Given the description of an element on the screen output the (x, y) to click on. 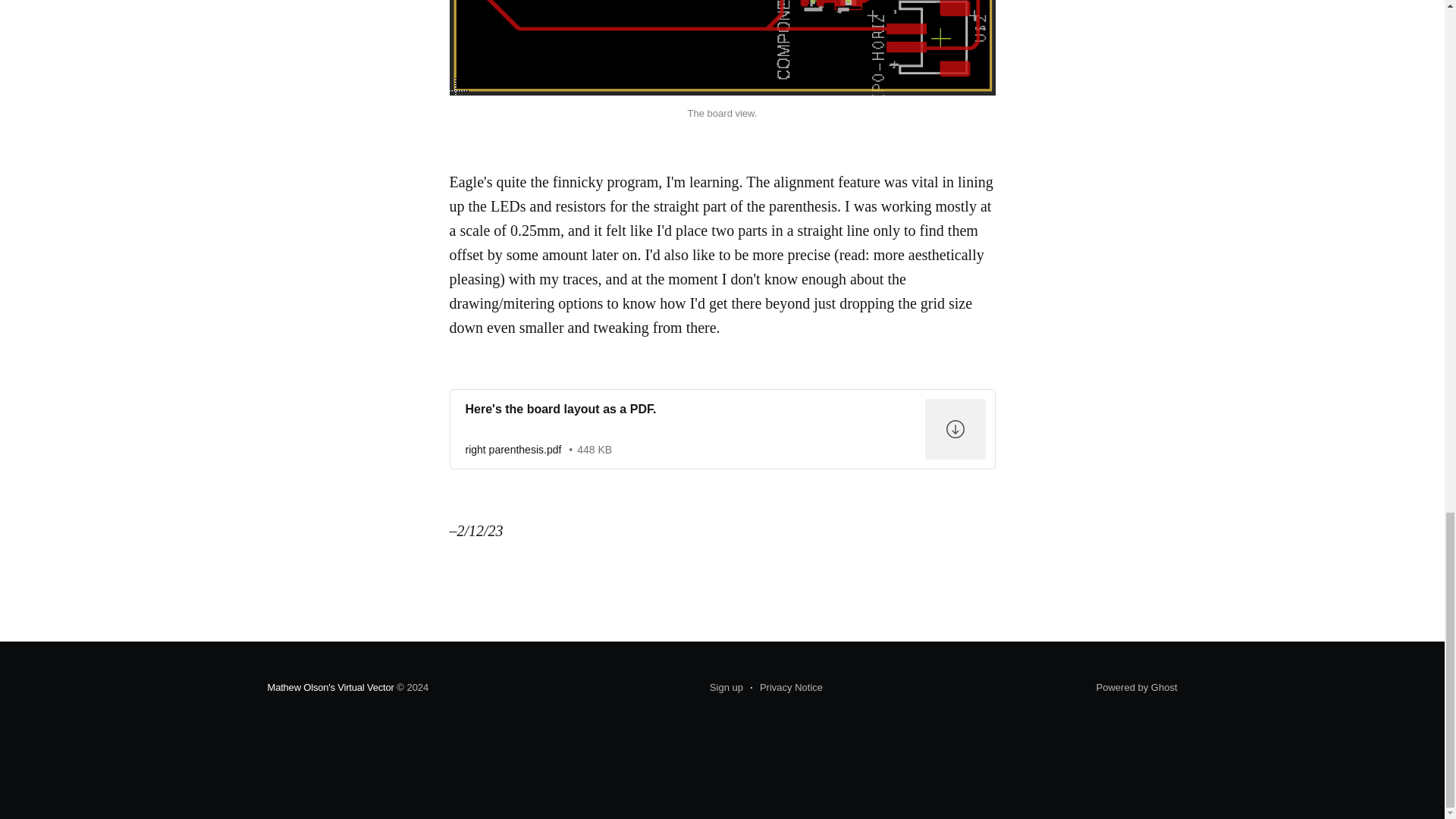
Powered by Ghost (1136, 686)
Mathew Olson's Virtual Vector (329, 686)
Sign up (726, 687)
Privacy Notice (786, 687)
Download (721, 429)
